Given the description of an element on the screen output the (x, y) to click on. 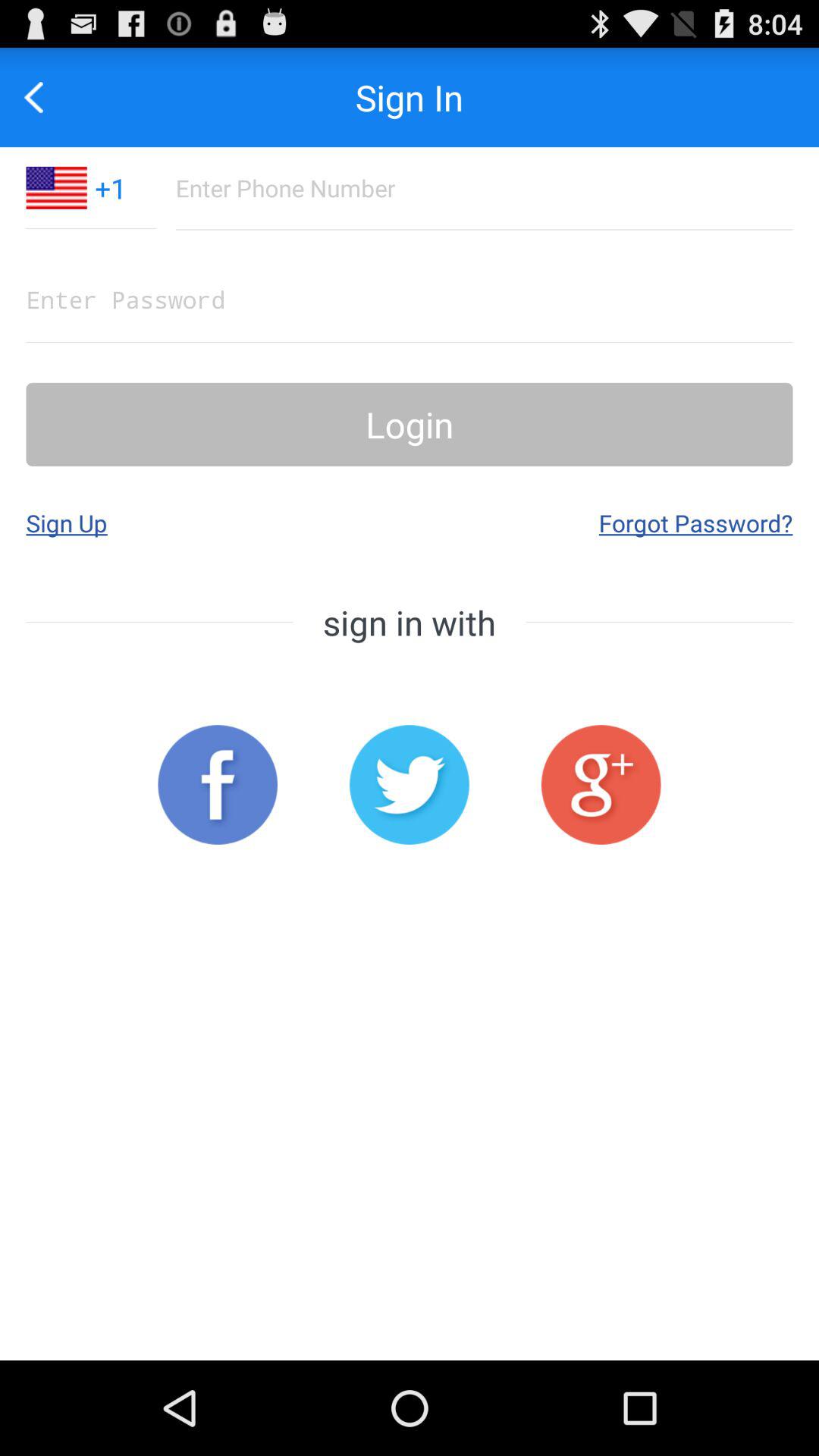
jump until sign up app (66, 522)
